Given the description of an element on the screen output the (x, y) to click on. 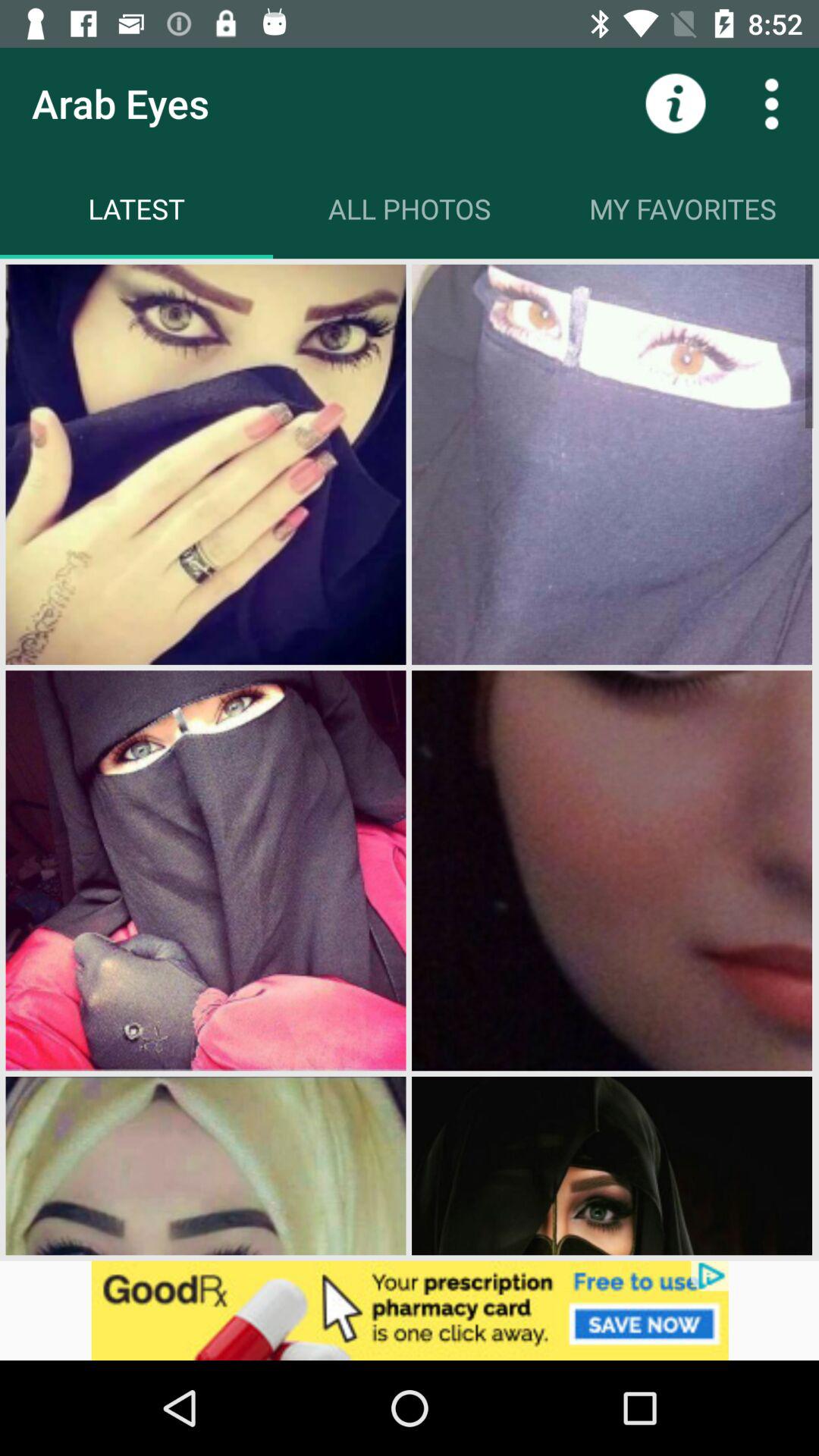
more datails (771, 103)
